Given the description of an element on the screen output the (x, y) to click on. 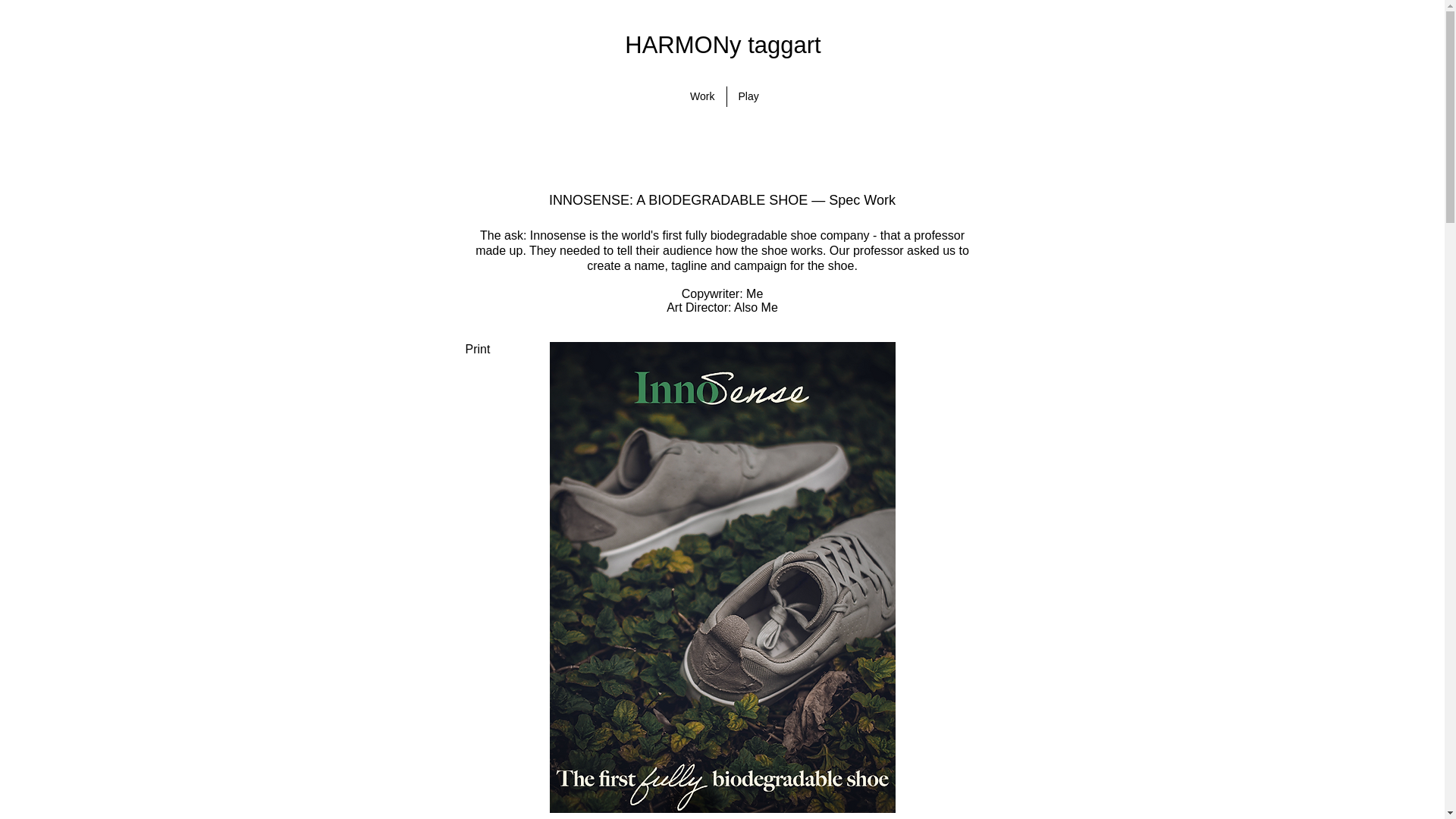
Work (701, 96)
Play (746, 96)
HARMONy taggart (722, 44)
